Given the description of an element on the screen output the (x, y) to click on. 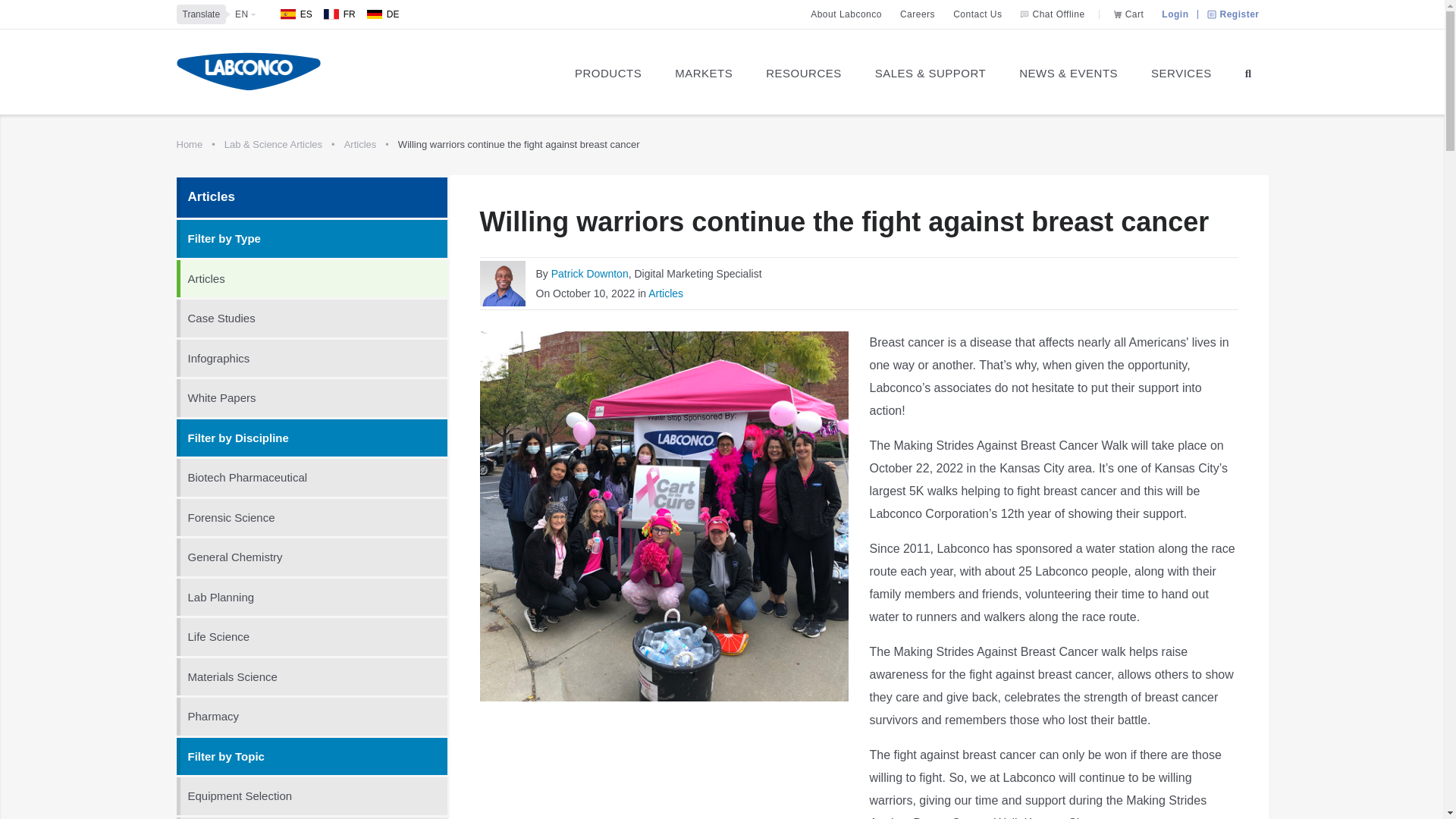
Cart (1128, 13)
About Labconco (846, 13)
SERVICES (1181, 71)
DE (382, 14)
PRODUCTS (607, 71)
RESOURCES (804, 71)
EN (241, 13)
MARKETS (703, 71)
Contact Us (976, 13)
Chat Offline (1054, 13)
